Given the description of an element on the screen output the (x, y) to click on. 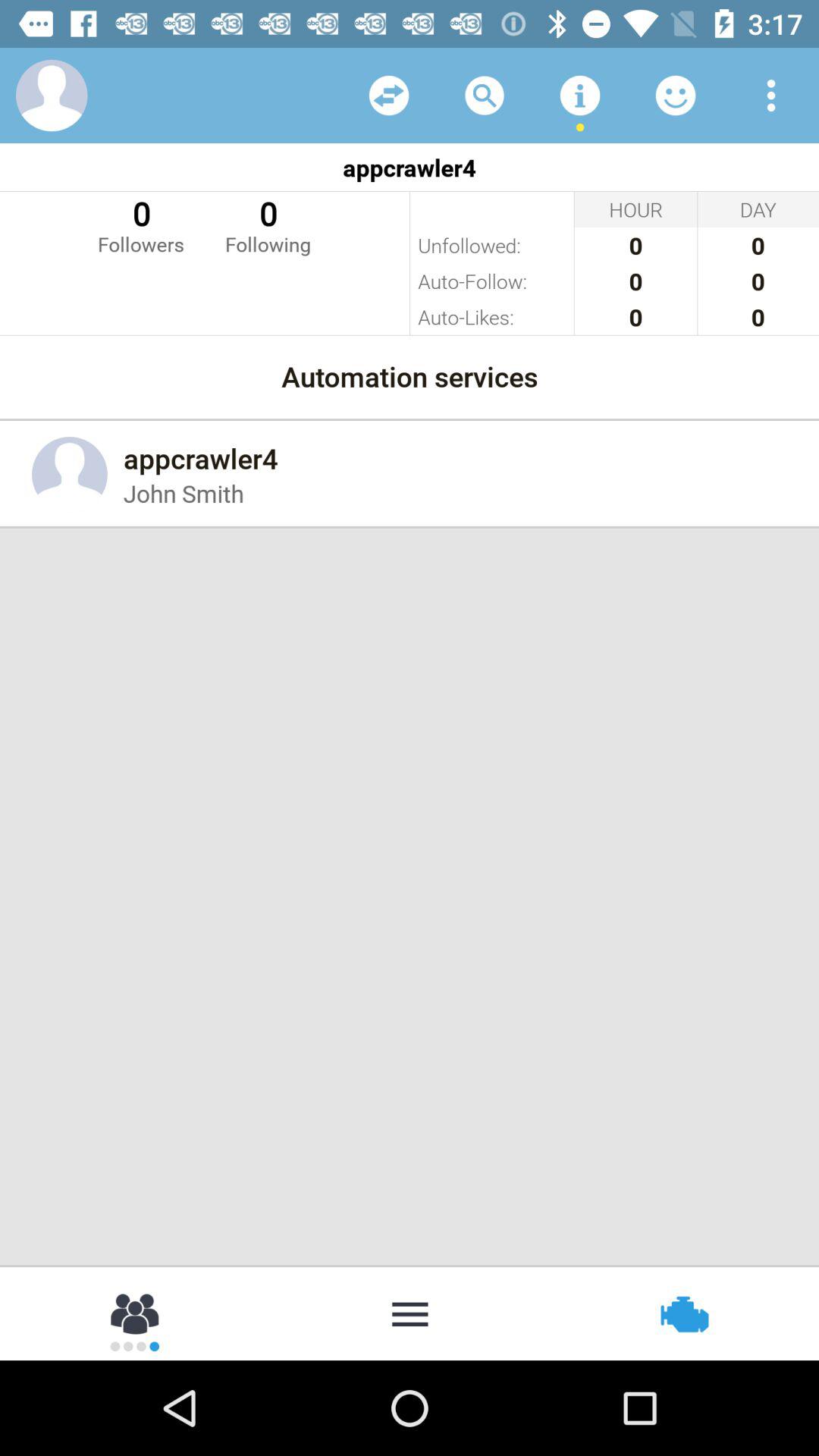
launch icon above the appcrawler4 item (388, 95)
